Given the description of an element on the screen output the (x, y) to click on. 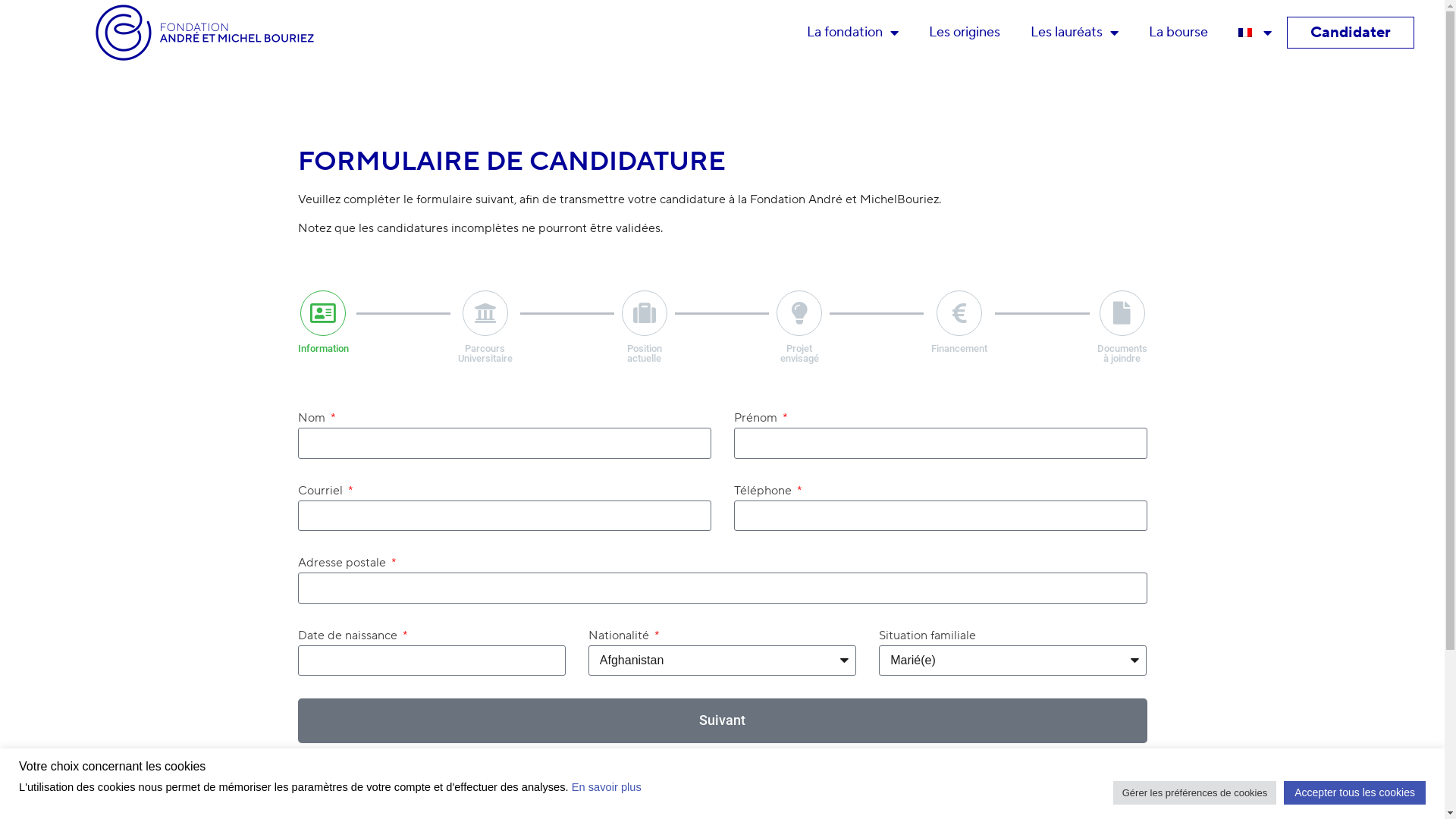
Suivant Element type: text (721, 720)
En savoir plus Element type: text (606, 787)
La bourse Element type: text (1178, 32)
Accepter tous les cookies Element type: text (1354, 792)
Les origines Element type: text (964, 32)
Candidater Element type: text (1350, 32)
La fondation Element type: text (852, 32)
